Given the description of an element on the screen output the (x, y) to click on. 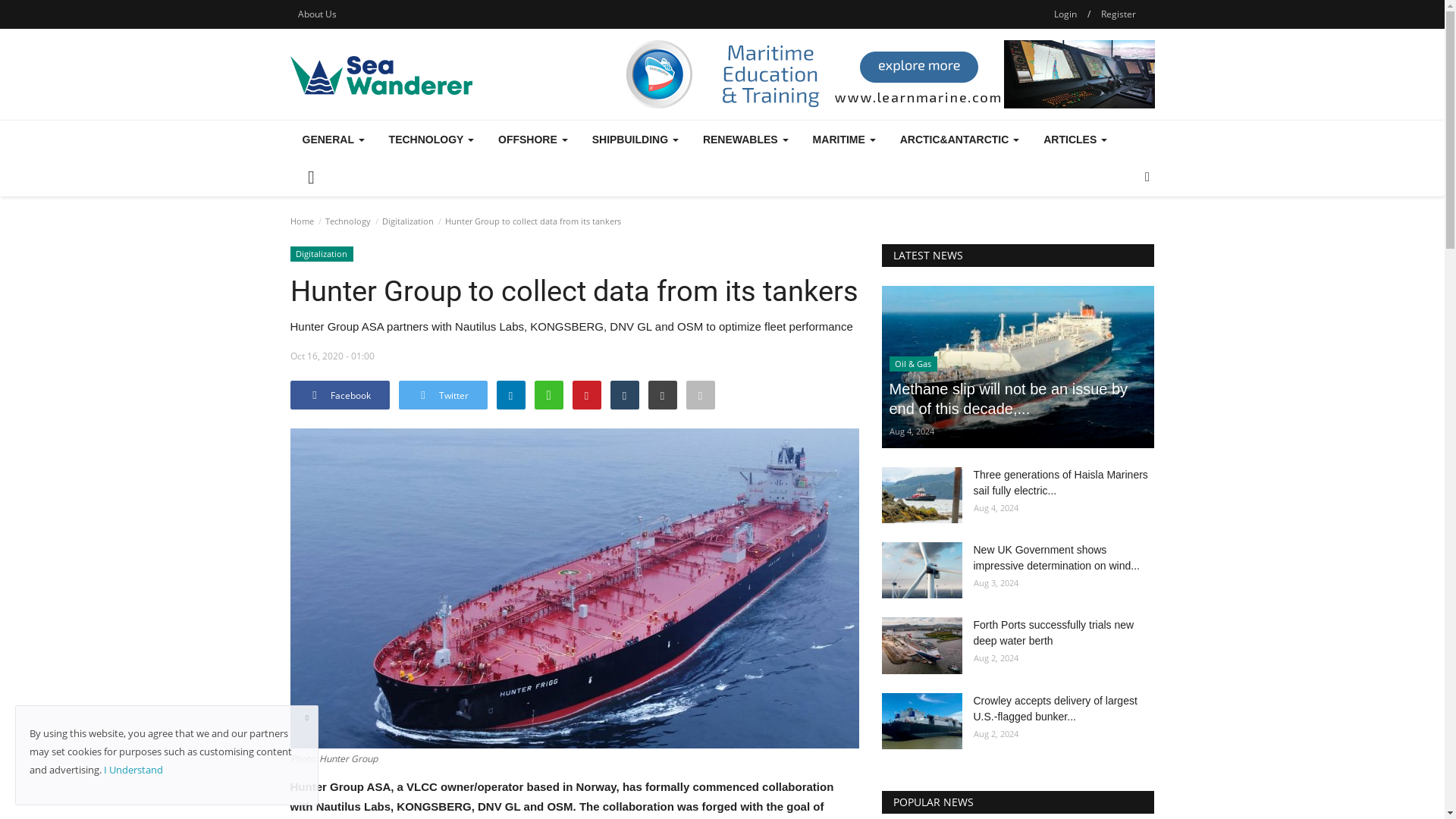
GENERAL (332, 139)
About Us (316, 14)
Login (1065, 14)
Register (1117, 14)
